Given the description of an element on the screen output the (x, y) to click on. 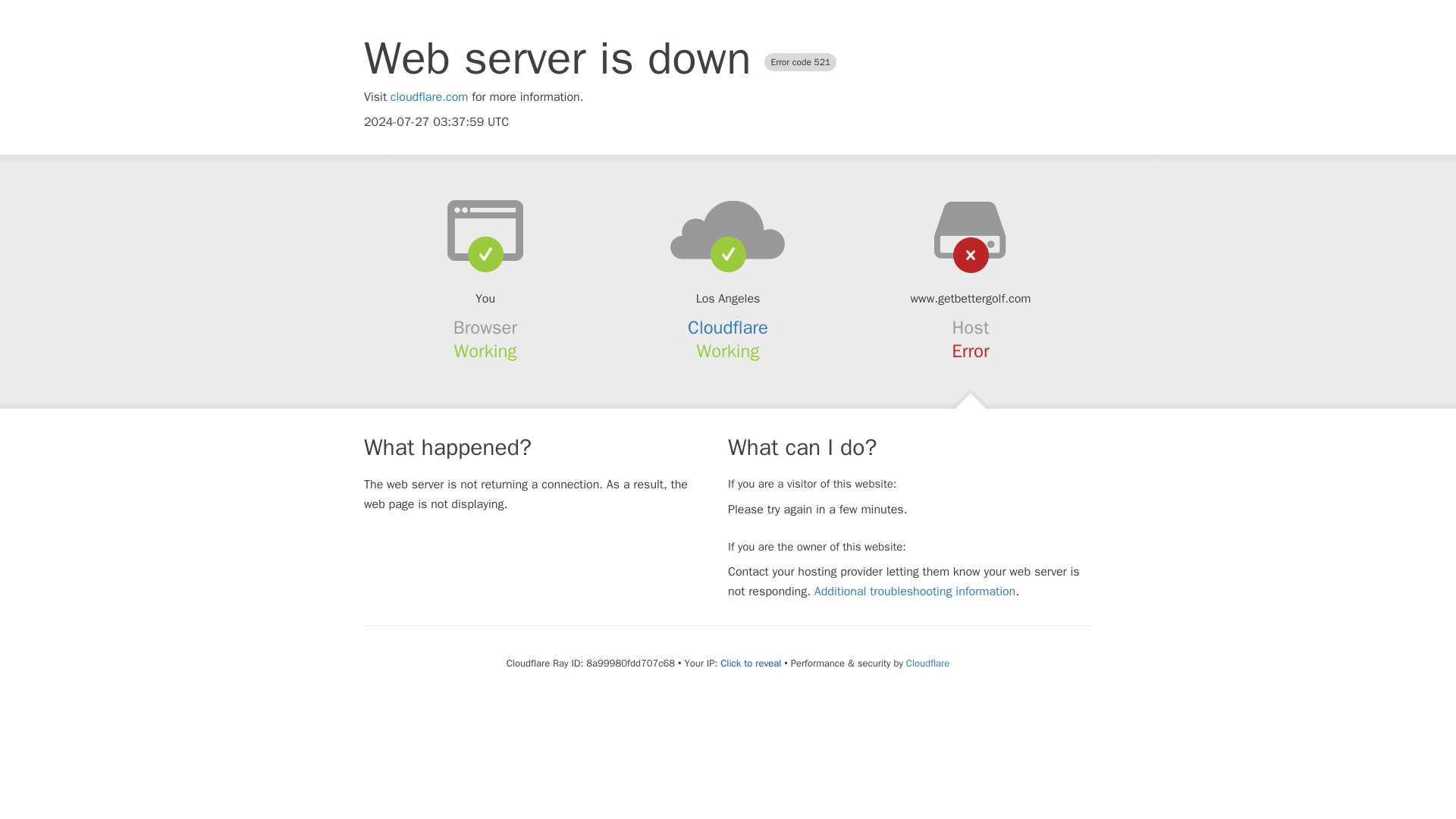
Cloudflare (927, 662)
cloudflare.com (429, 96)
Cloudflare (727, 327)
Click to reveal (750, 663)
Additional troubleshooting information (913, 590)
